Given the description of an element on the screen output the (x, y) to click on. 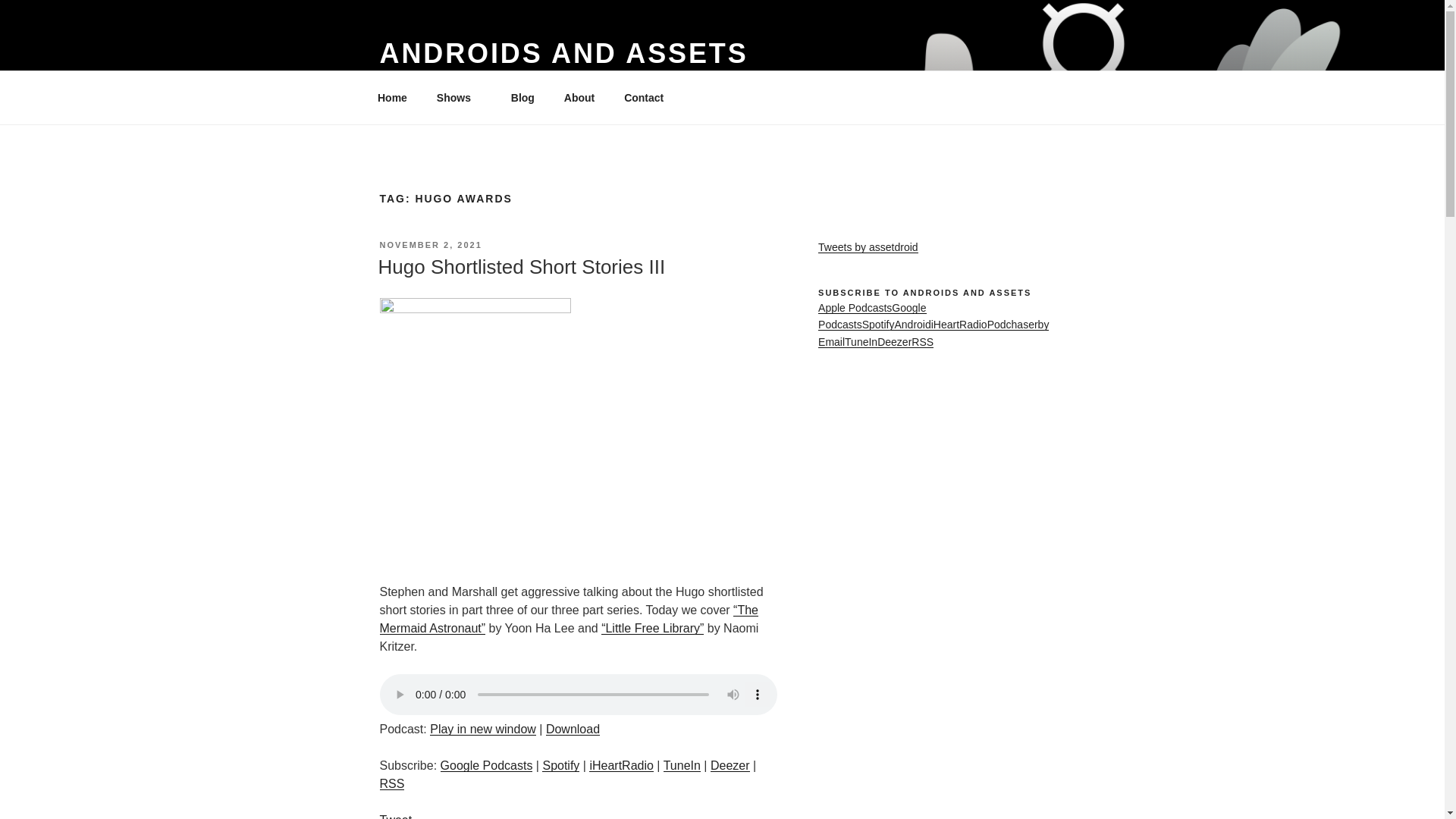
Contact (644, 97)
Subscribe on TuneIn (681, 765)
Google Podcasts (486, 765)
iHeartRadio (620, 765)
RSS (391, 783)
Subscribe via RSS (391, 783)
About (578, 97)
Tweet (395, 816)
Home (392, 97)
Download (572, 728)
Subscribe on iHeartRadio (620, 765)
Subscribe on Spotify (560, 765)
Subscribe on Deezer (729, 765)
Play in new window (482, 728)
TuneIn (681, 765)
